Given the description of an element on the screen output the (x, y) to click on. 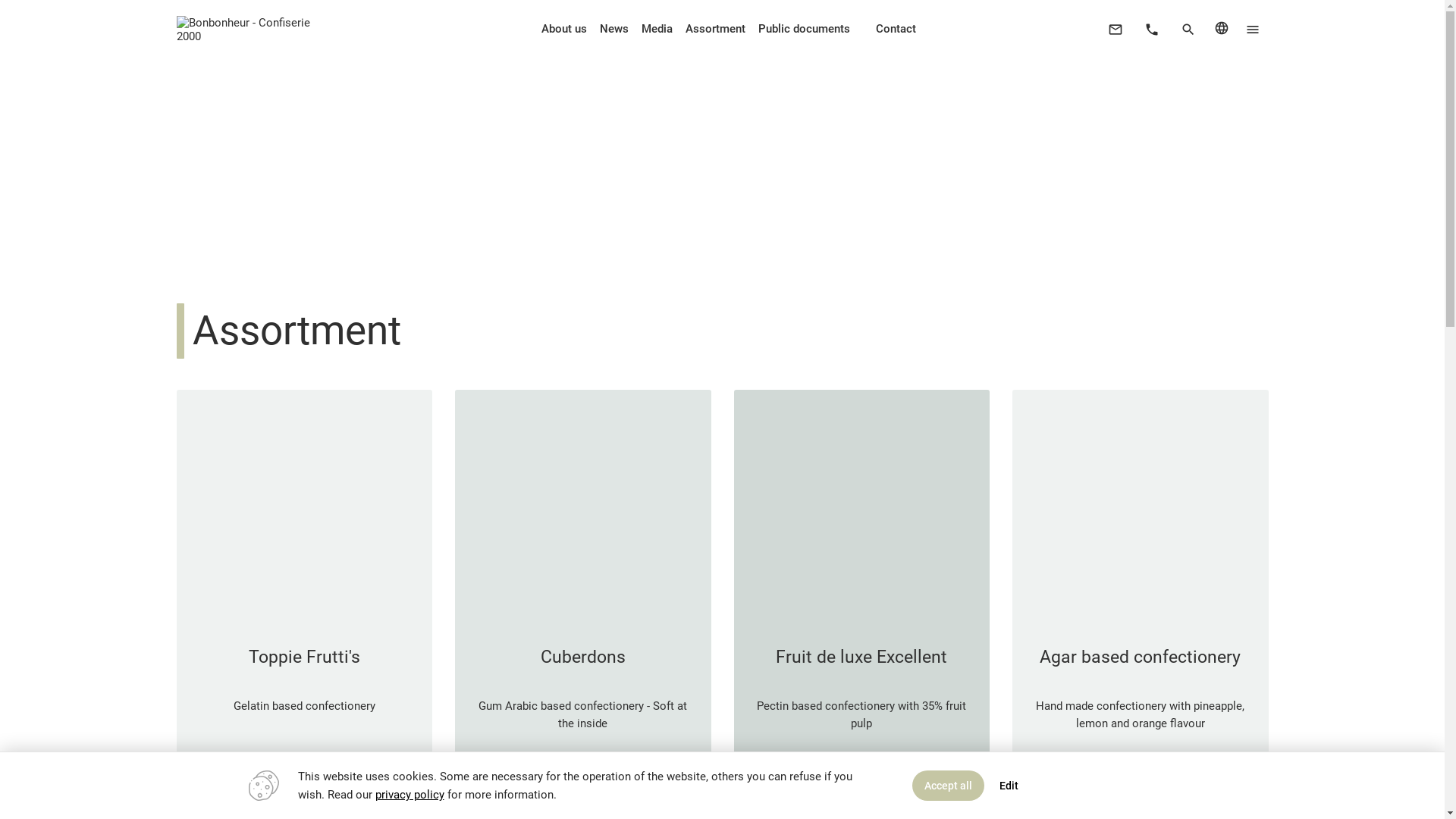
Edit Element type: text (1008, 785)
Accept all Element type: text (947, 785)
mail_outline Element type: text (1114, 29)
Assortment Element type: text (715, 28)
phone Element type: text (1150, 29)
Bonbonheur - Confiserie 2000 Element type: hover (251, 35)
News Element type: text (613, 28)
Contact Element type: text (895, 28)
search Element type: text (1187, 29)
About us Element type: text (564, 28)
Public documents Element type: text (804, 28)
Media Element type: text (657, 28)
menu Element type: text (1252, 29)
privacy policy Element type: text (408, 794)
